Given the description of an element on the screen output the (x, y) to click on. 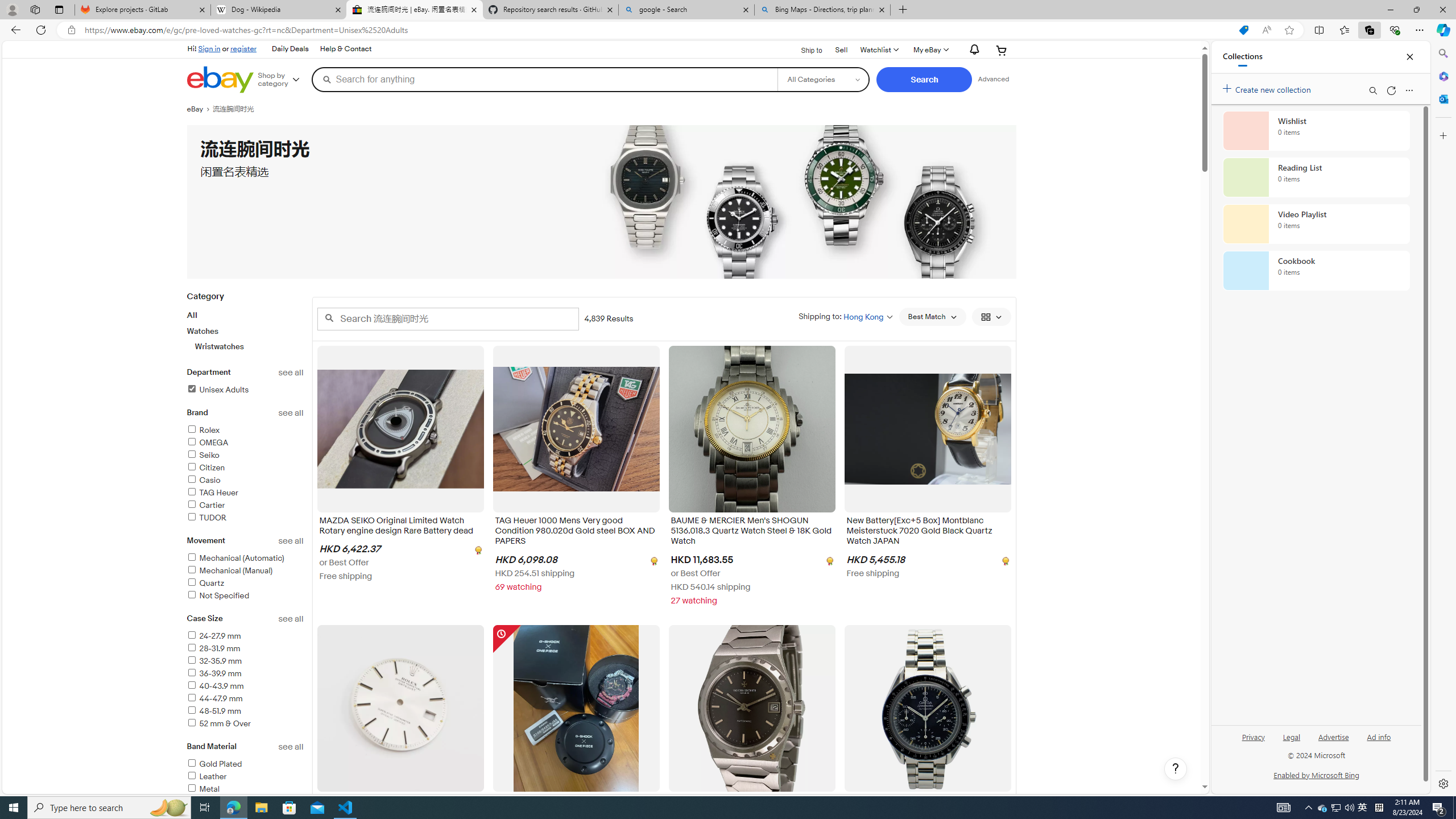
Video Playlist collection, 0 items (1316, 223)
36-39.9 mm (213, 673)
My eBayExpand My eBay (930, 49)
Shipping to: Hong Kong (845, 316)
Help & Contact (345, 49)
Gold Plated (213, 764)
52 mm & Over (218, 723)
eBay (199, 108)
36-39.9 mm (245, 674)
Not Specified (245, 596)
